Given the description of an element on the screen output the (x, y) to click on. 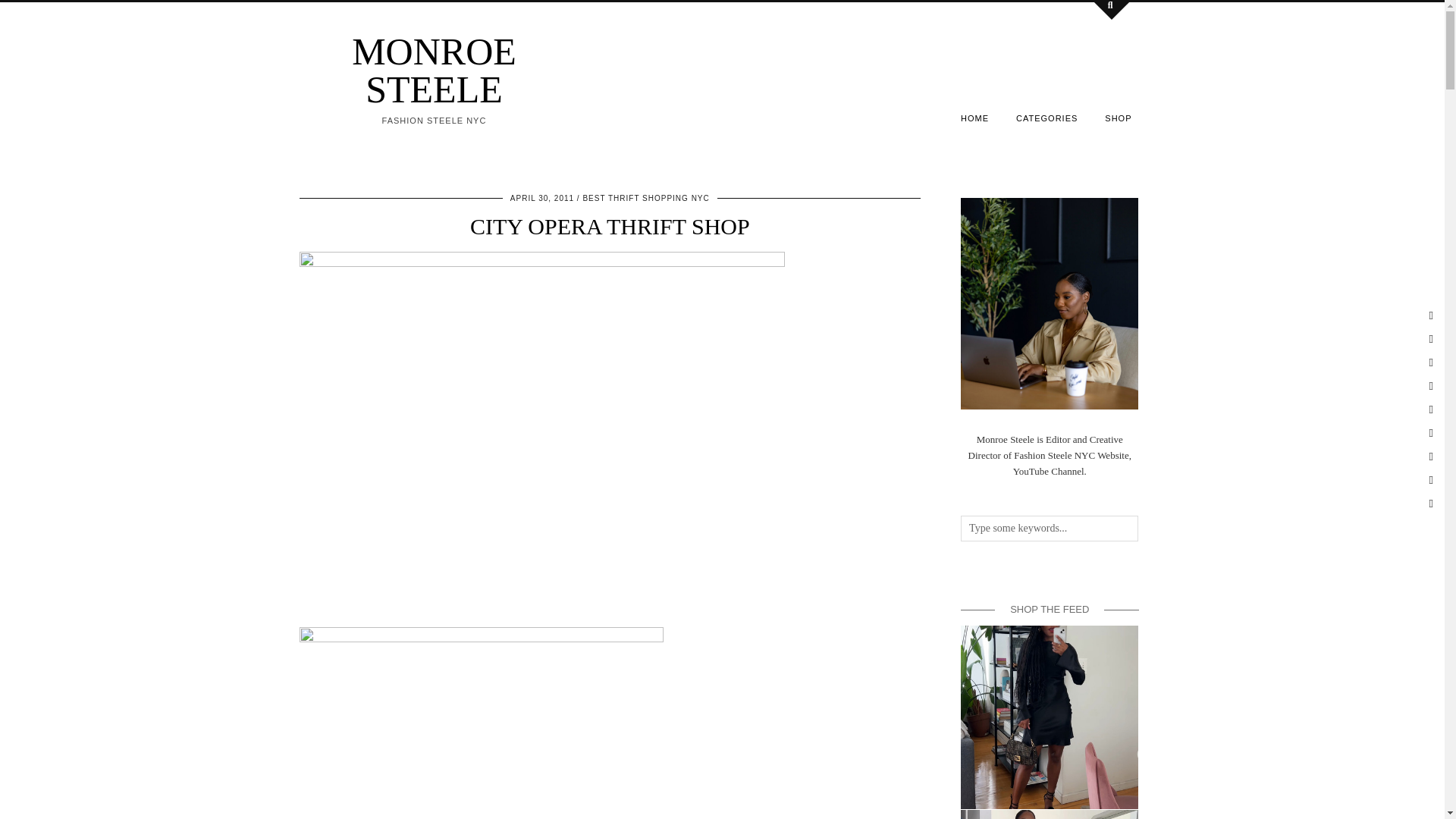
MONROE STEELE (434, 70)
